Given the description of an element on the screen output the (x, y) to click on. 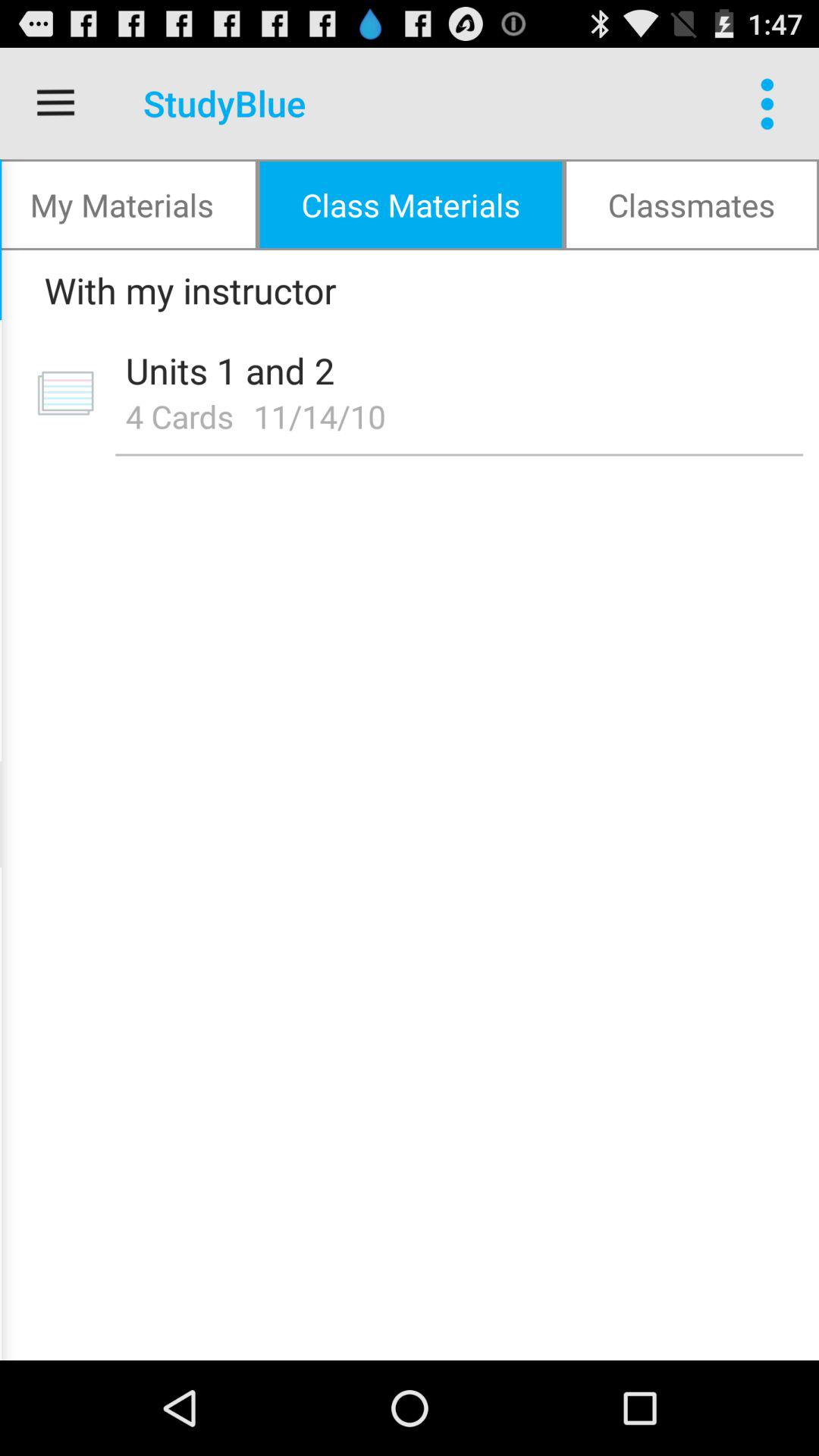
flip until classmates icon (691, 204)
